Given the description of an element on the screen output the (x, y) to click on. 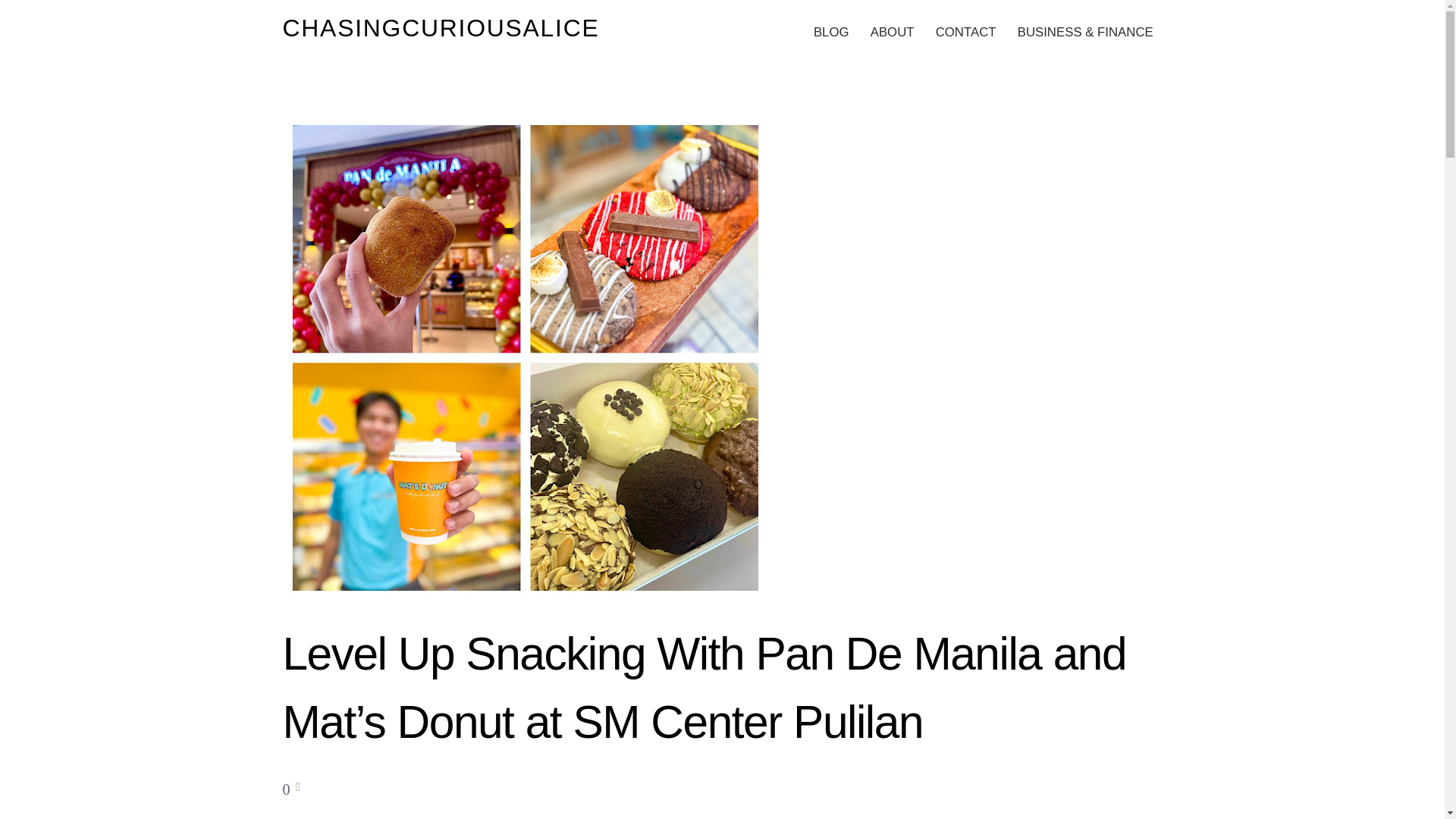
BLOG (831, 32)
CONTACT (965, 32)
CHASINGCURIOUSALICE (440, 27)
Chasingcuriousalice (440, 27)
ABOUT (892, 32)
